Given the description of an element on the screen output the (x, y) to click on. 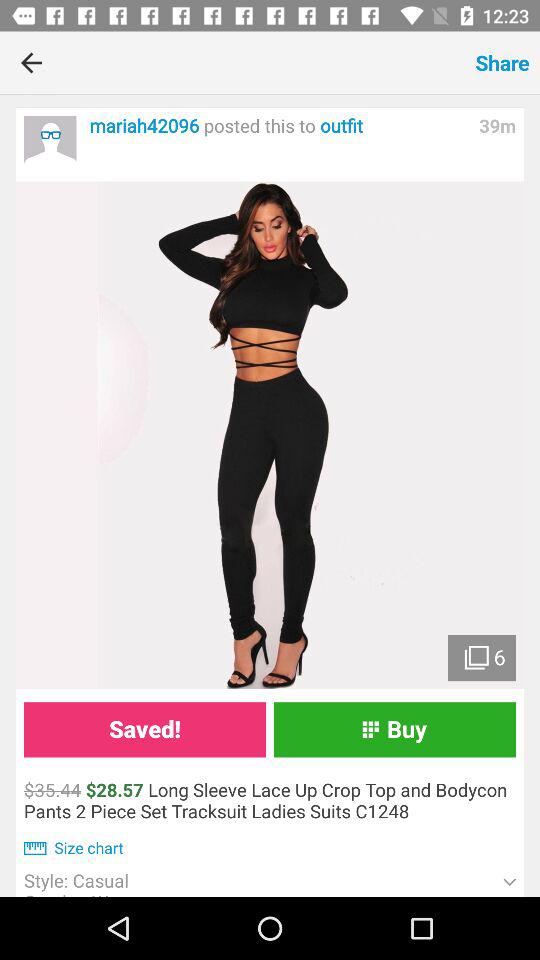
click icon to the left of the mariah42096 posted this (50, 141)
